Given the description of an element on the screen output the (x, y) to click on. 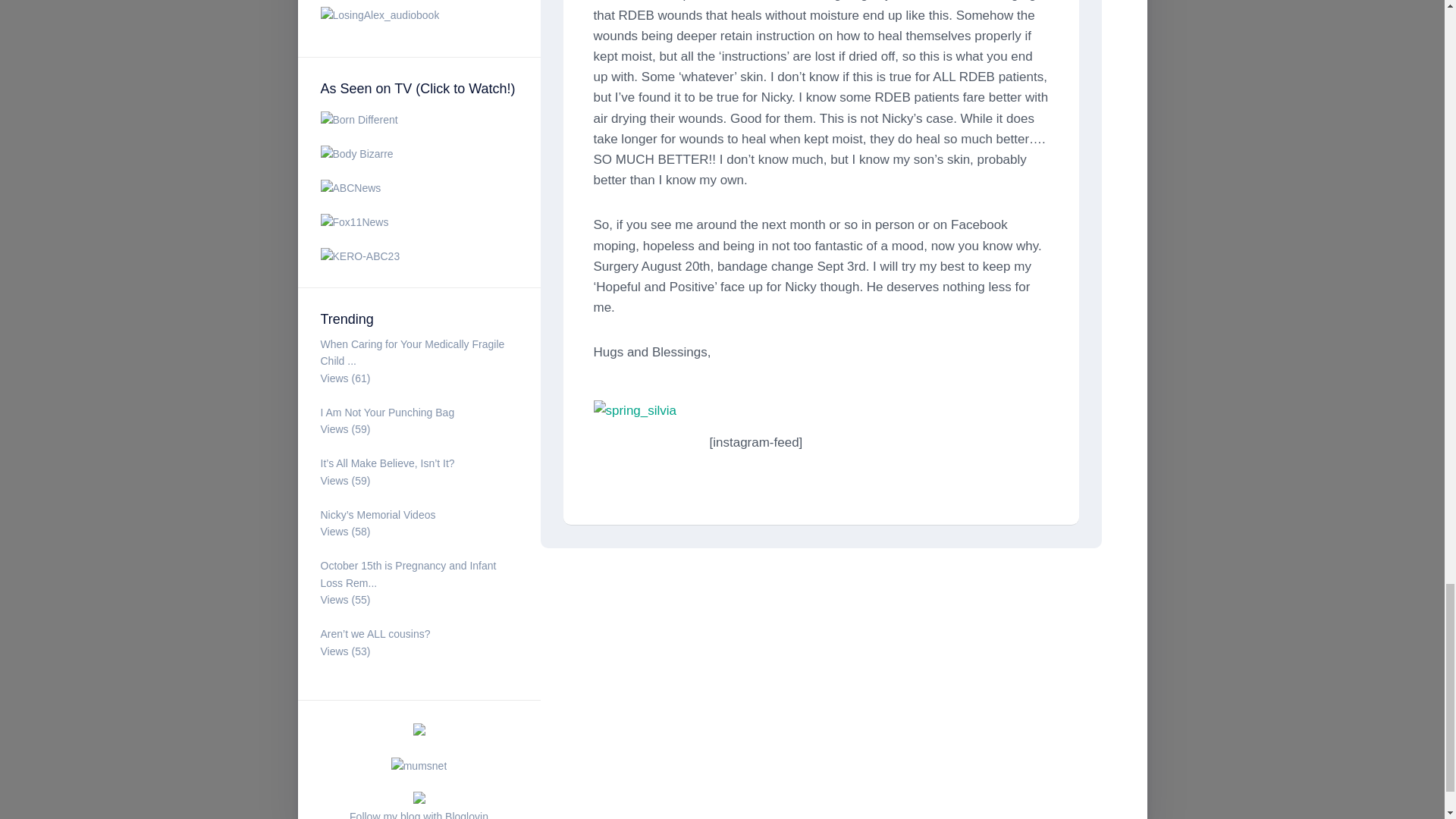
When Caring for Your Medically Fragile Child ... (411, 352)
I Am Not Your Punching Bag (387, 412)
I Am Not Your Punching Bag (387, 412)
October 15th is Pregnancy and Infant Loss Remembrance Day (408, 573)
